Given the description of an element on the screen output the (x, y) to click on. 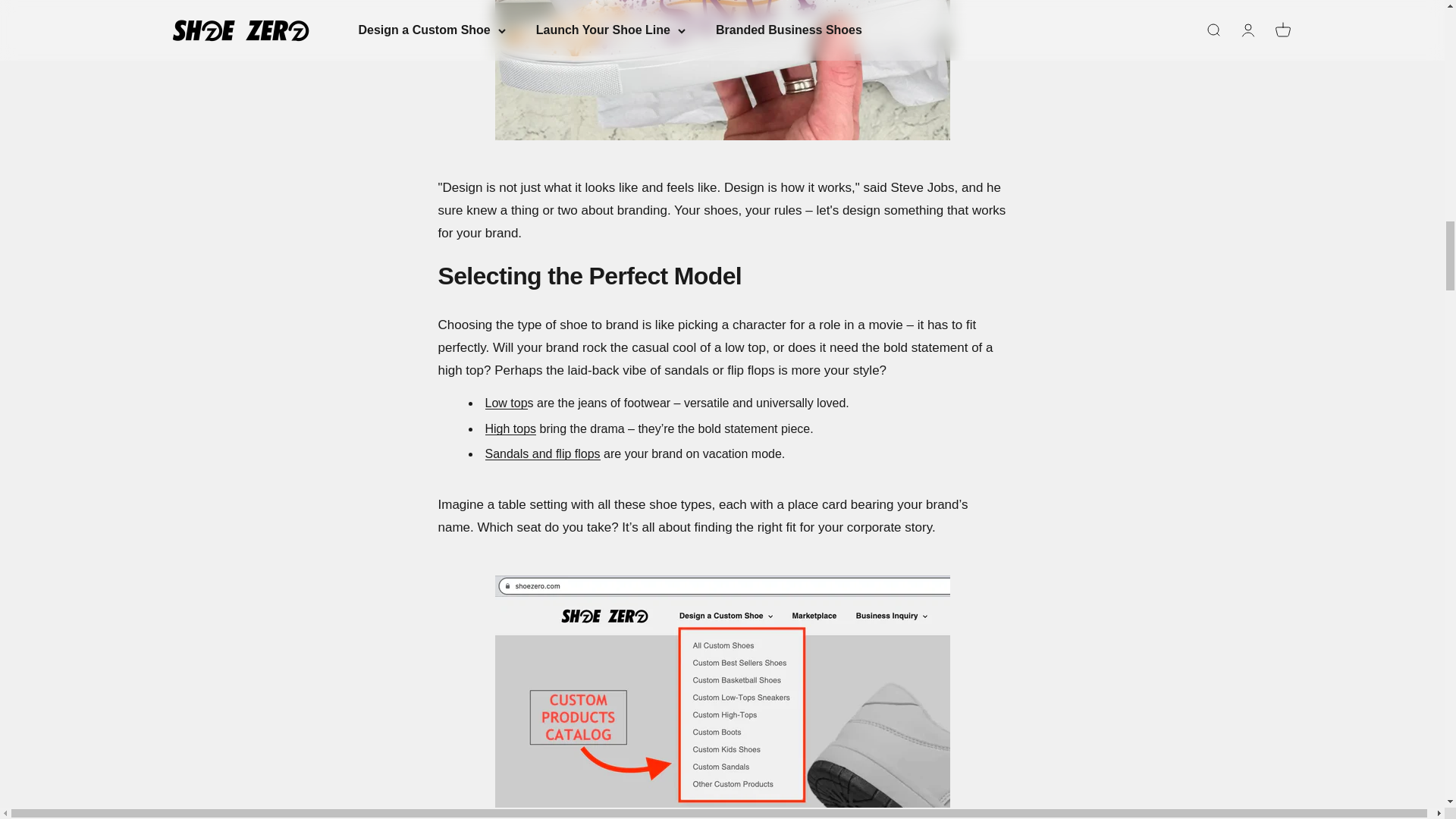
Sandals and flip flops (541, 453)
Low top (505, 402)
High tops (510, 428)
